Given the description of an element on the screen output the (x, y) to click on. 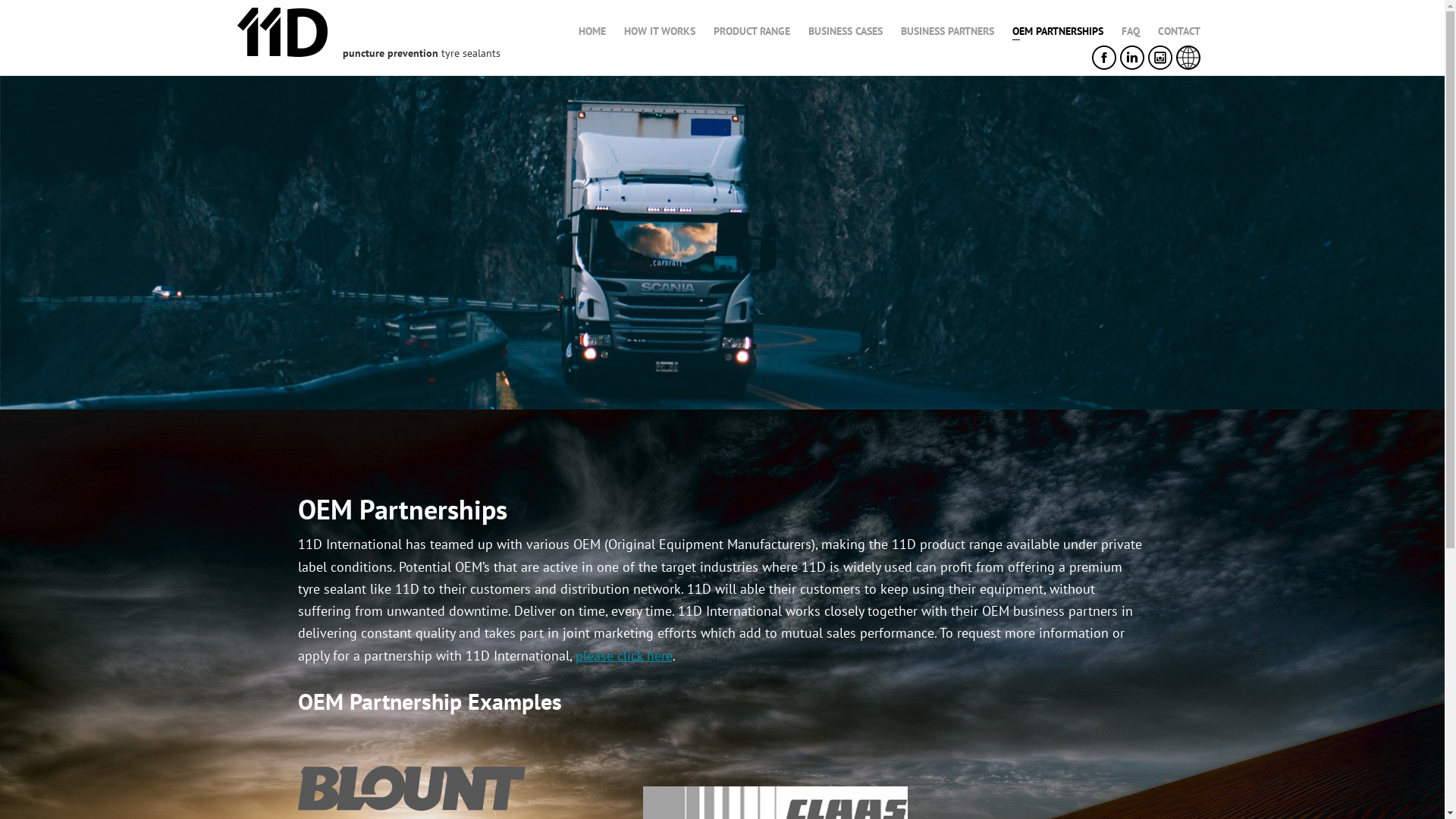
CONTACT Element type: text (1178, 30)
OEM PARTNERSHIPS Element type: text (1057, 30)
HOME Element type: text (591, 30)
PRODUCT RANGE Element type: text (751, 30)
FAQ Element type: text (1129, 30)
BUSINESS PARTNERS Element type: text (947, 30)
BUSINESS CASES Element type: text (845, 30)
11D Premium Tyre Sealant Element type: hover (281, 52)
HOW IT WORKS Element type: text (658, 30)
puncture prevention tyre sealants Element type: text (415, 52)
Skip to primary navigation Element type: text (22, 0)
please click here Element type: text (622, 655)
